Given the description of an element on the screen output the (x, y) to click on. 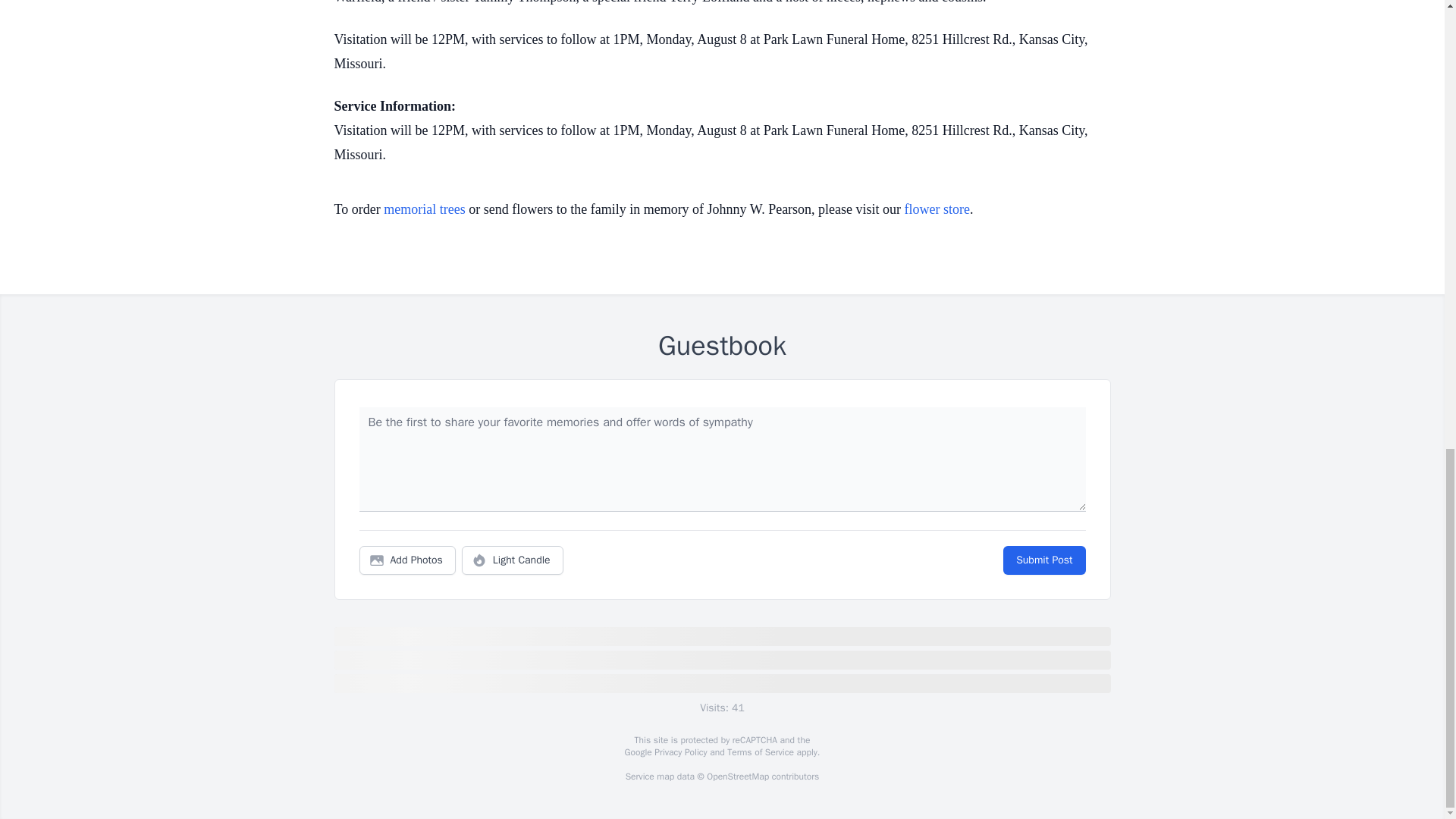
Submit Post (1043, 560)
Add Photos (407, 560)
Light Candle (512, 560)
flower store (936, 209)
Terms of Service (759, 752)
OpenStreetMap (737, 776)
memorial trees (424, 209)
Privacy Policy (679, 752)
